Given the description of an element on the screen output the (x, y) to click on. 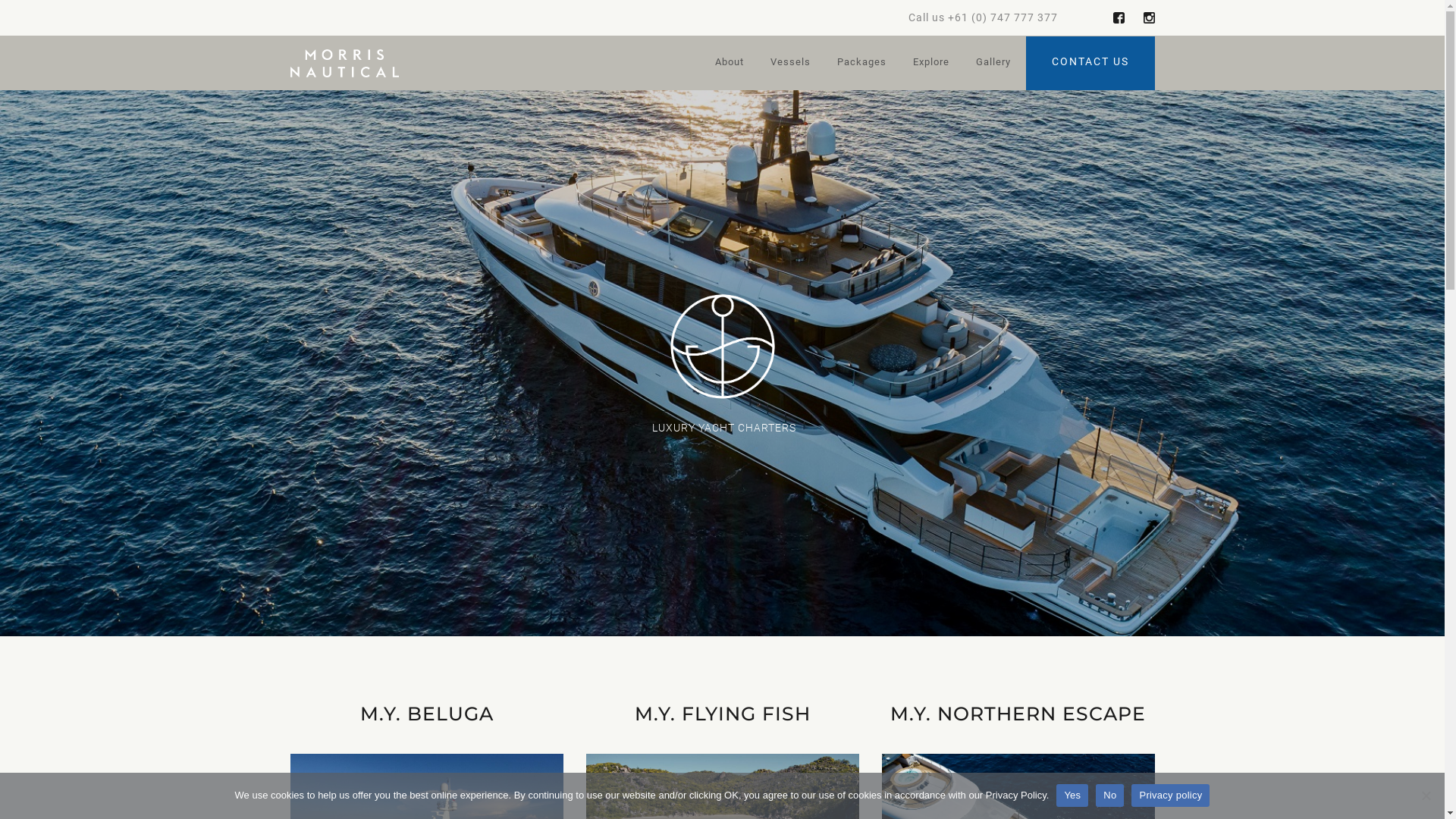
Facebook Element type: text (1118, 17)
No Element type: text (1109, 795)
CONTACT US Element type: text (1089, 63)
About Element type: text (728, 63)
Explore Element type: text (931, 63)
No Element type: hover (1425, 795)
Packages Element type: text (861, 63)
Yes Element type: text (1072, 795)
Gallery Element type: text (992, 63)
Vessels Element type: text (790, 63)
+61 (0) 747 777 377 Element type: text (1002, 17)
Instagram Element type: text (1148, 17)
Privacy policy Element type: text (1170, 795)
